Given the description of an element on the screen output the (x, y) to click on. 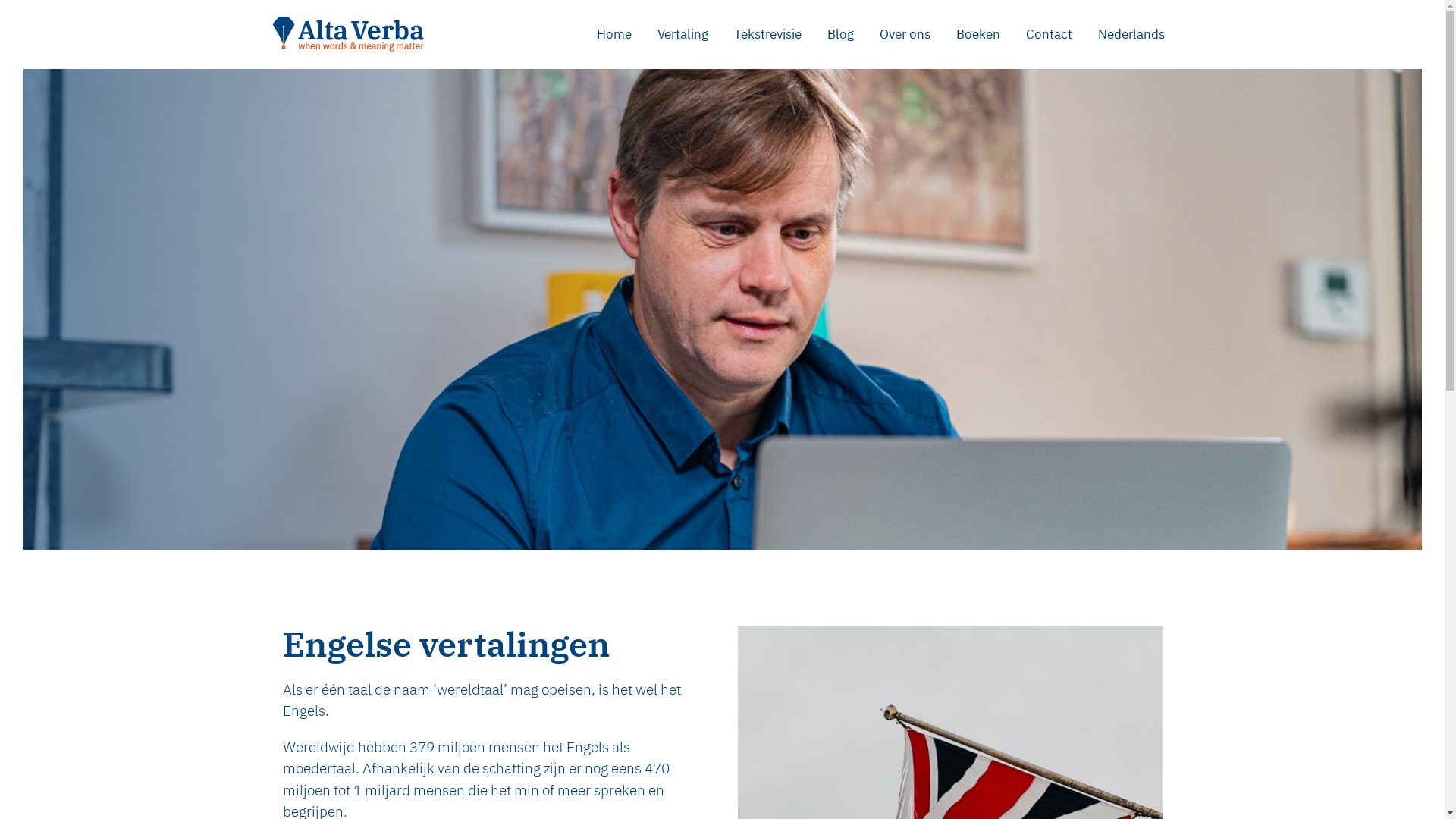
Boeken Element type: text (978, 34)
Nederlands Element type: text (1130, 34)
Tekstrevisie Element type: text (766, 34)
Home Element type: text (613, 34)
Vertaling Element type: text (682, 34)
Blog Element type: text (840, 34)
Contact Element type: text (1049, 34)
Over ons Element type: text (904, 34)
